Given the description of an element on the screen output the (x, y) to click on. 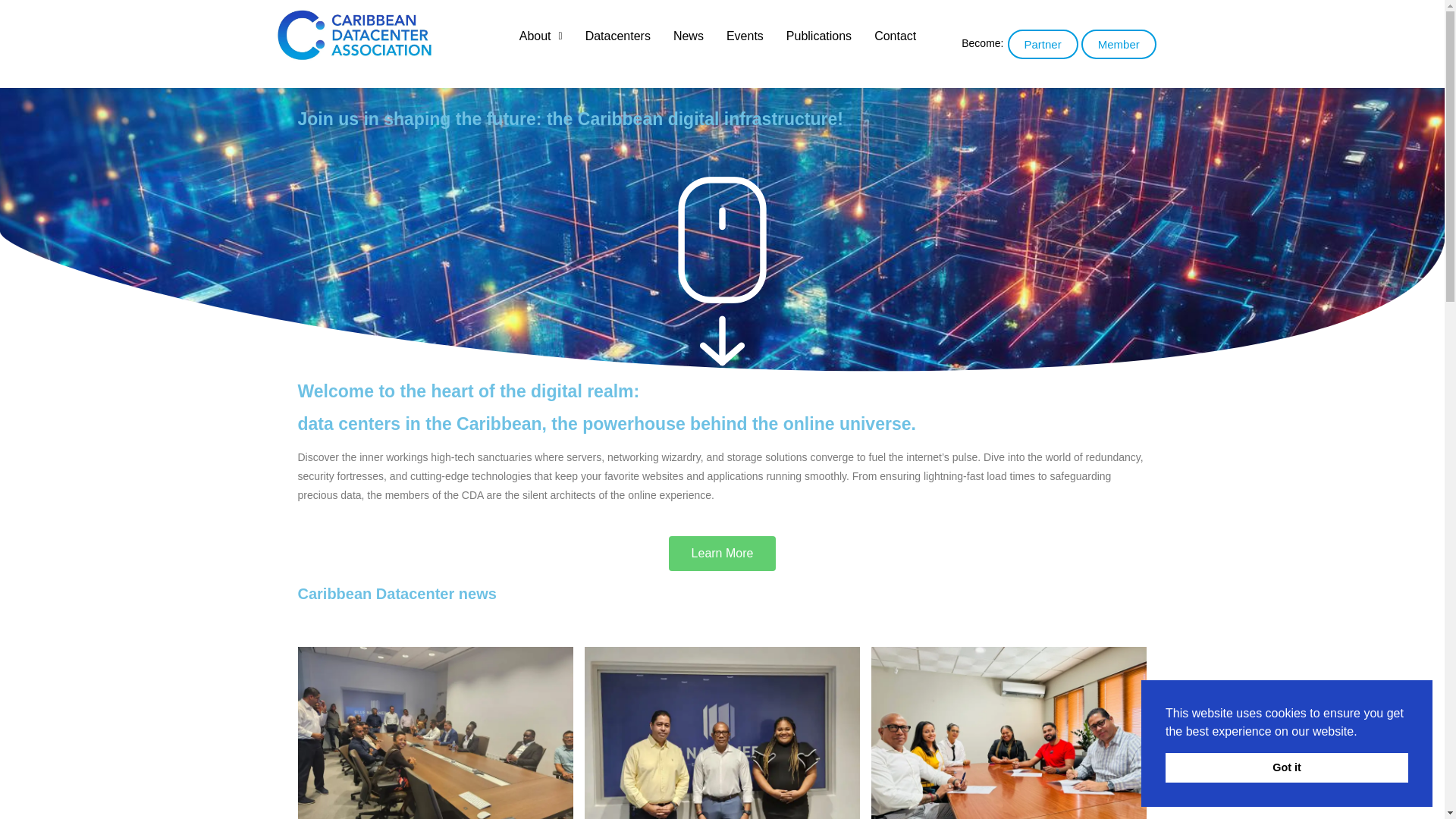
Events (744, 36)
Learn More (722, 558)
Member (1118, 43)
Publications (818, 36)
Datacenters (617, 36)
Partner (1042, 43)
News (688, 36)
About (540, 36)
Contact (895, 36)
